Given the description of an element on the screen output the (x, y) to click on. 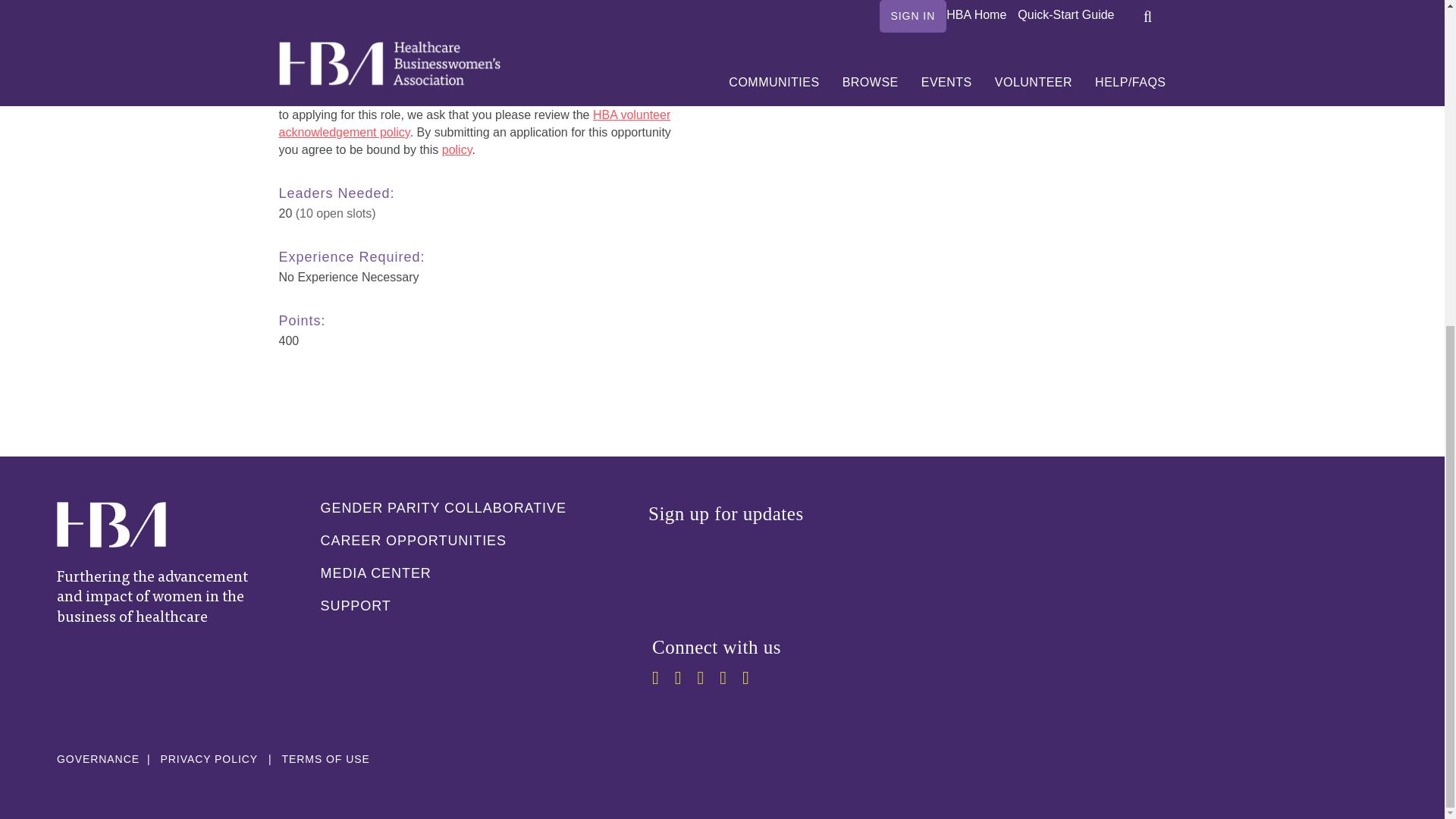
Nominate (1121, 63)
policy (456, 149)
HBA volunteer acknowledgement policy (475, 123)
